Given the description of an element on the screen output the (x, y) to click on. 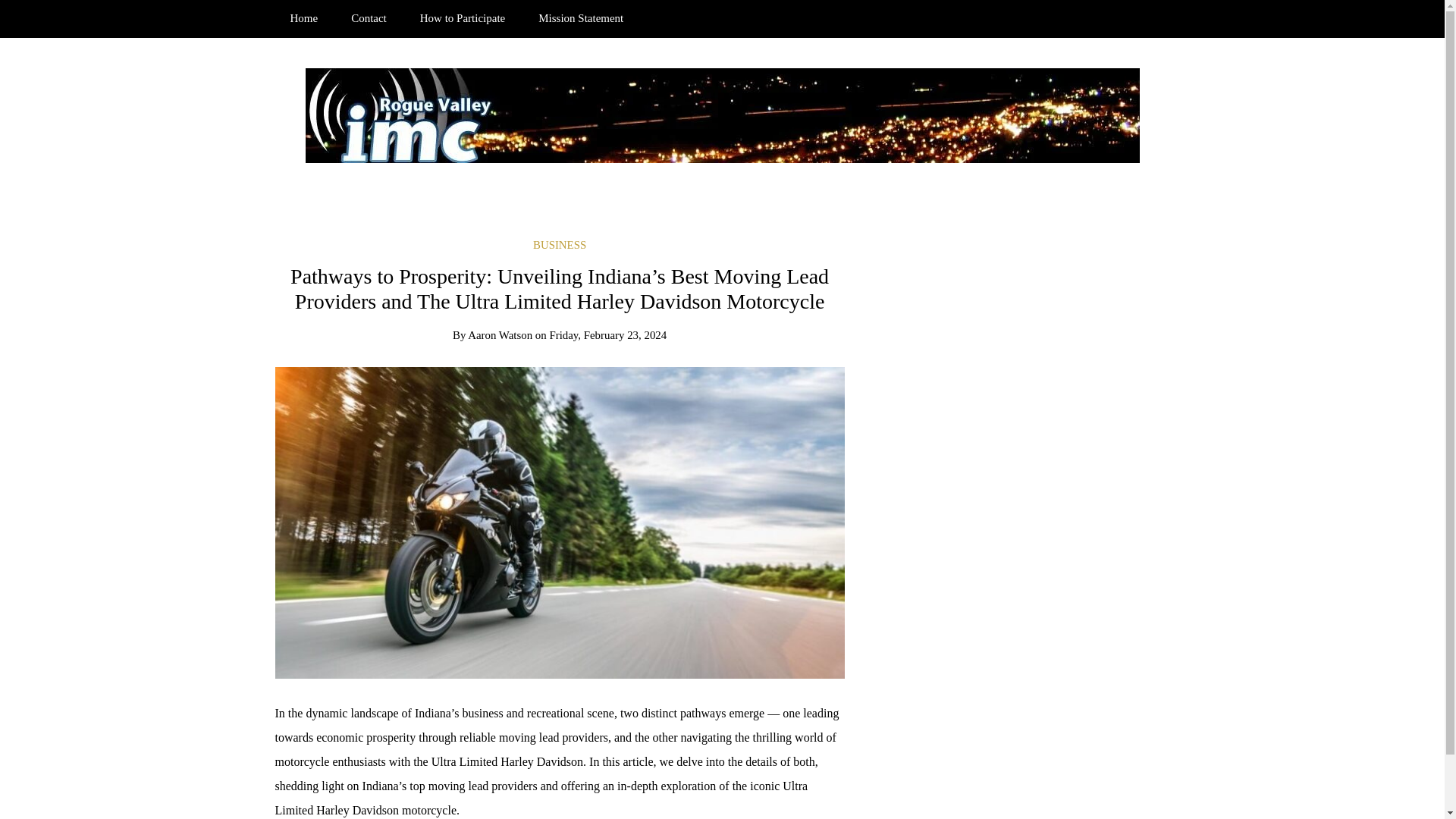
Aaron Watson (499, 335)
Posts by Aaron Watson (499, 335)
BUSINESS (559, 244)
Home (304, 18)
Friday, February 23, 2024 (607, 335)
Mission Statement (580, 18)
How to Participate (461, 18)
Contact (368, 18)
